Given the description of an element on the screen output the (x, y) to click on. 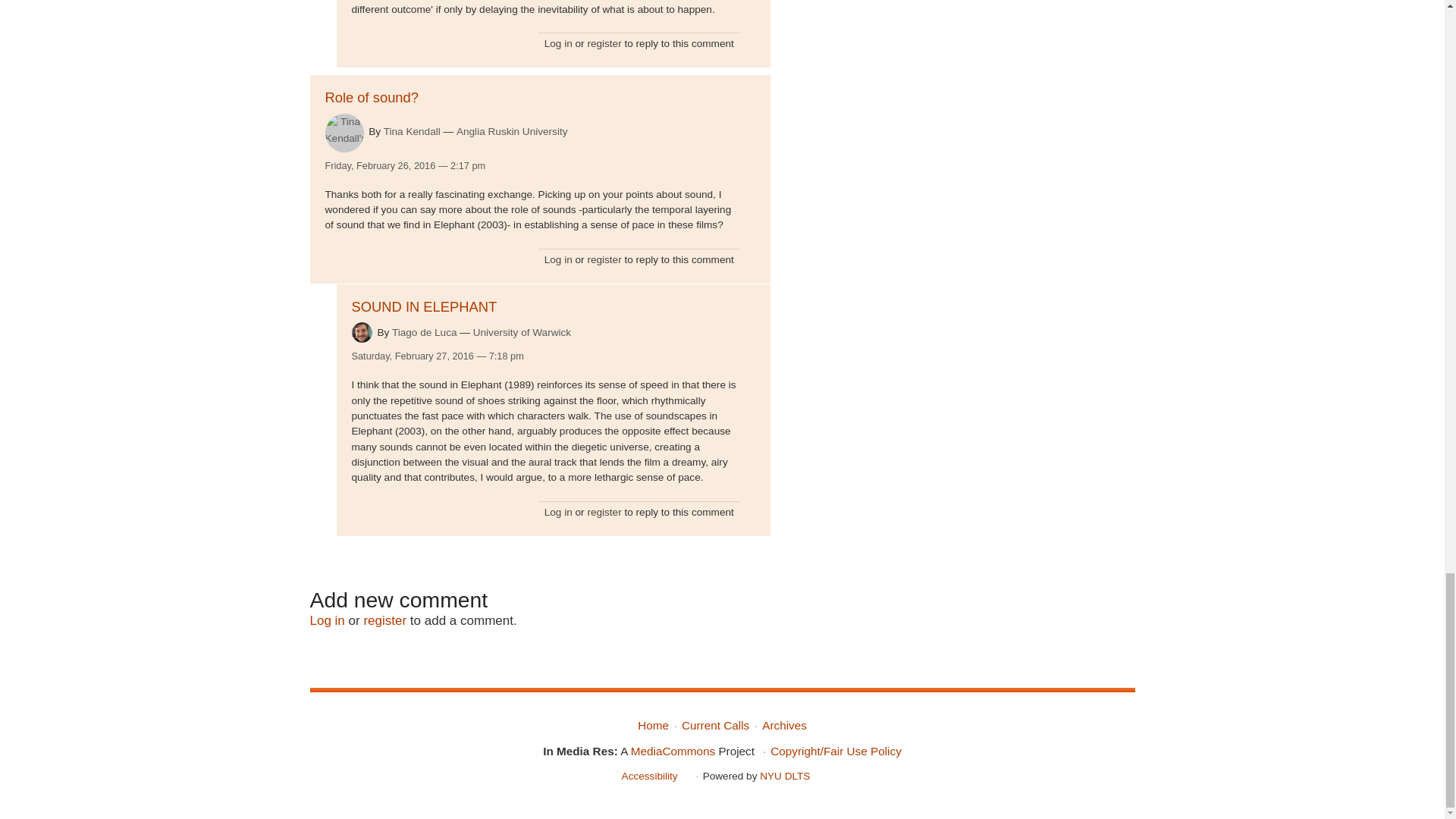
View user profile. (343, 132)
User profile: Tiago de Luca (424, 332)
User profile: Tina Kendall (412, 131)
Anglia Ruskin University (512, 131)
View user profile. (362, 332)
University of Warwick (521, 332)
